Given the description of an element on the screen output the (x, y) to click on. 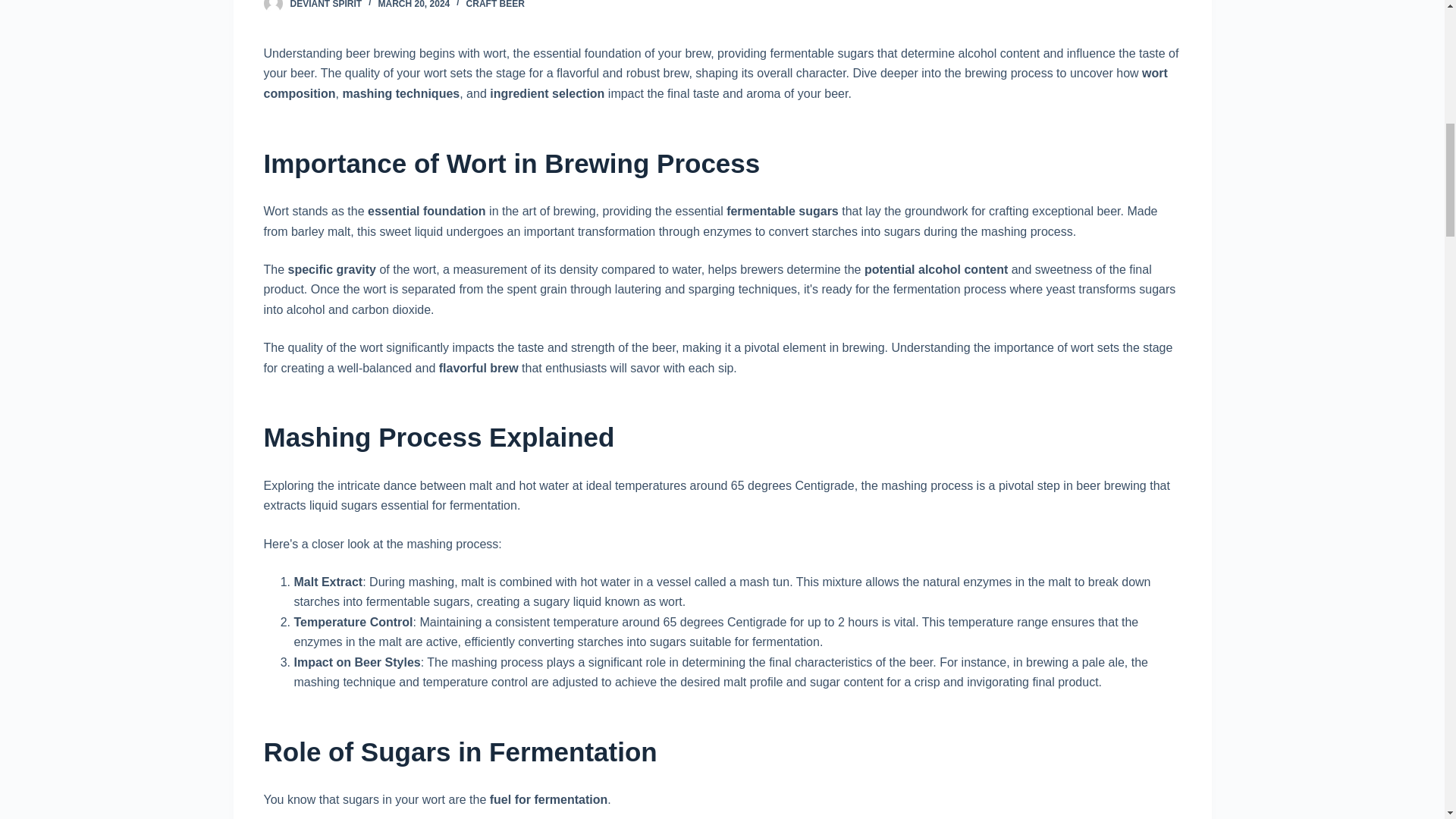
CRAFT BEER (494, 4)
DEVIANT SPIRIT (325, 4)
Posts by Deviant Spirit (325, 4)
